Given the description of an element on the screen output the (x, y) to click on. 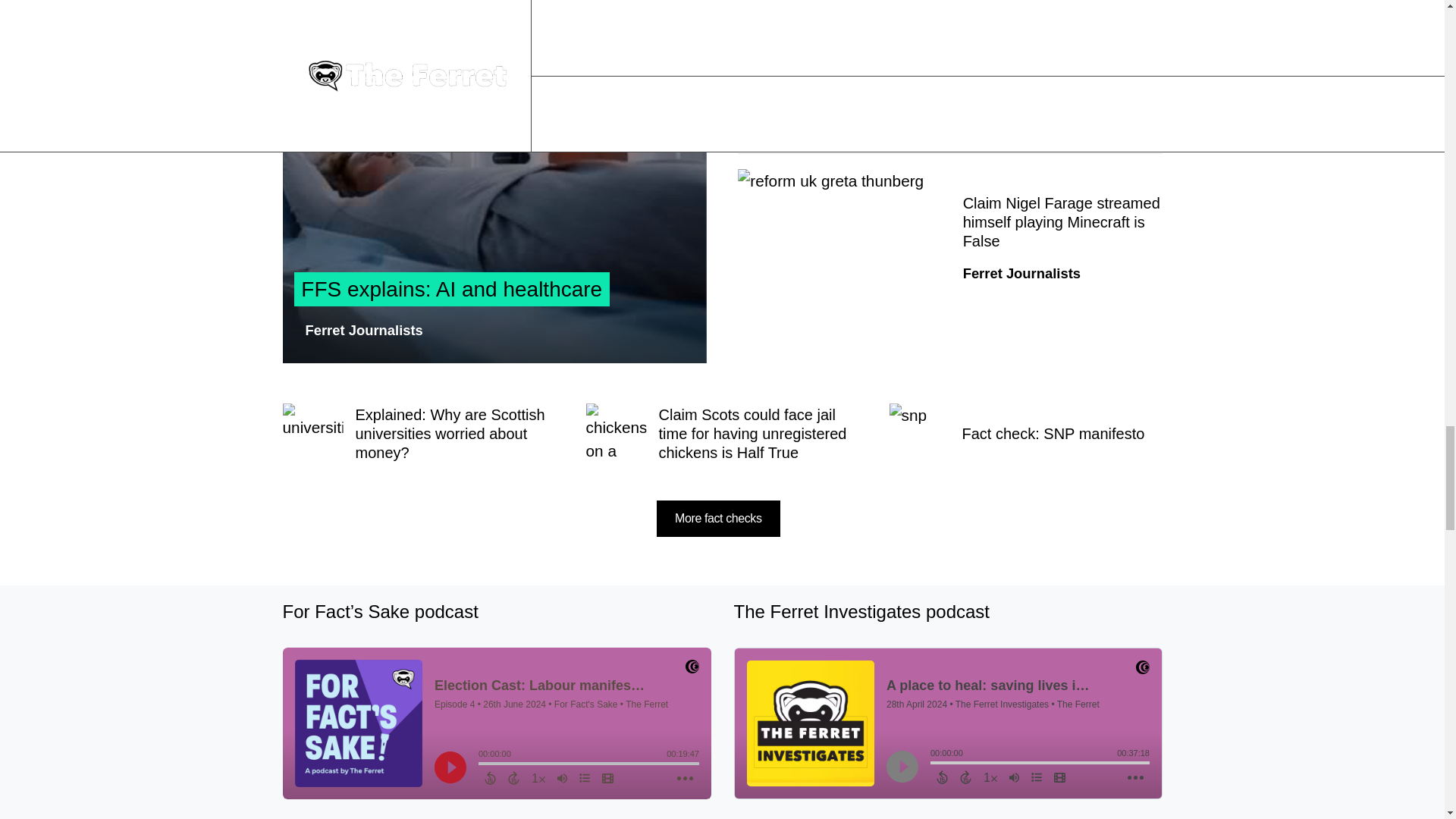
View all posts by Ferret Journalists (1021, 92)
View all posts by Ferret Journalists (363, 330)
View all posts by Ferret Journalists (1021, 273)
